Given the description of an element on the screen output the (x, y) to click on. 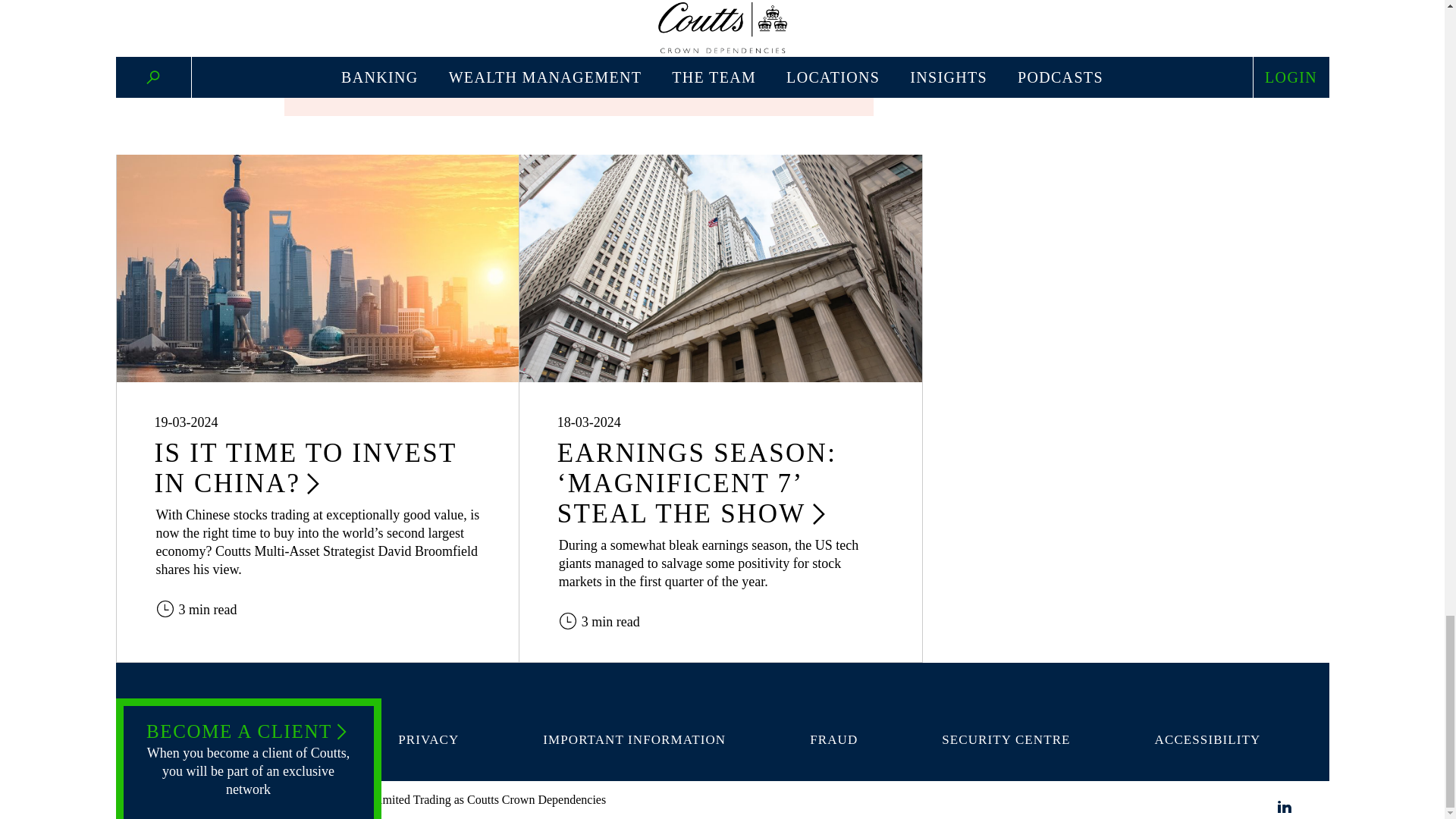
Is it time to invest in China? (317, 268)
WAYS OF BANKING (248, 740)
FRAUD (833, 740)
IMPORTANT INFORMATION (634, 740)
PRIVACY (427, 740)
IS IT TIME TO INVEST IN CHINA? (305, 467)
